Given the description of an element on the screen output the (x, y) to click on. 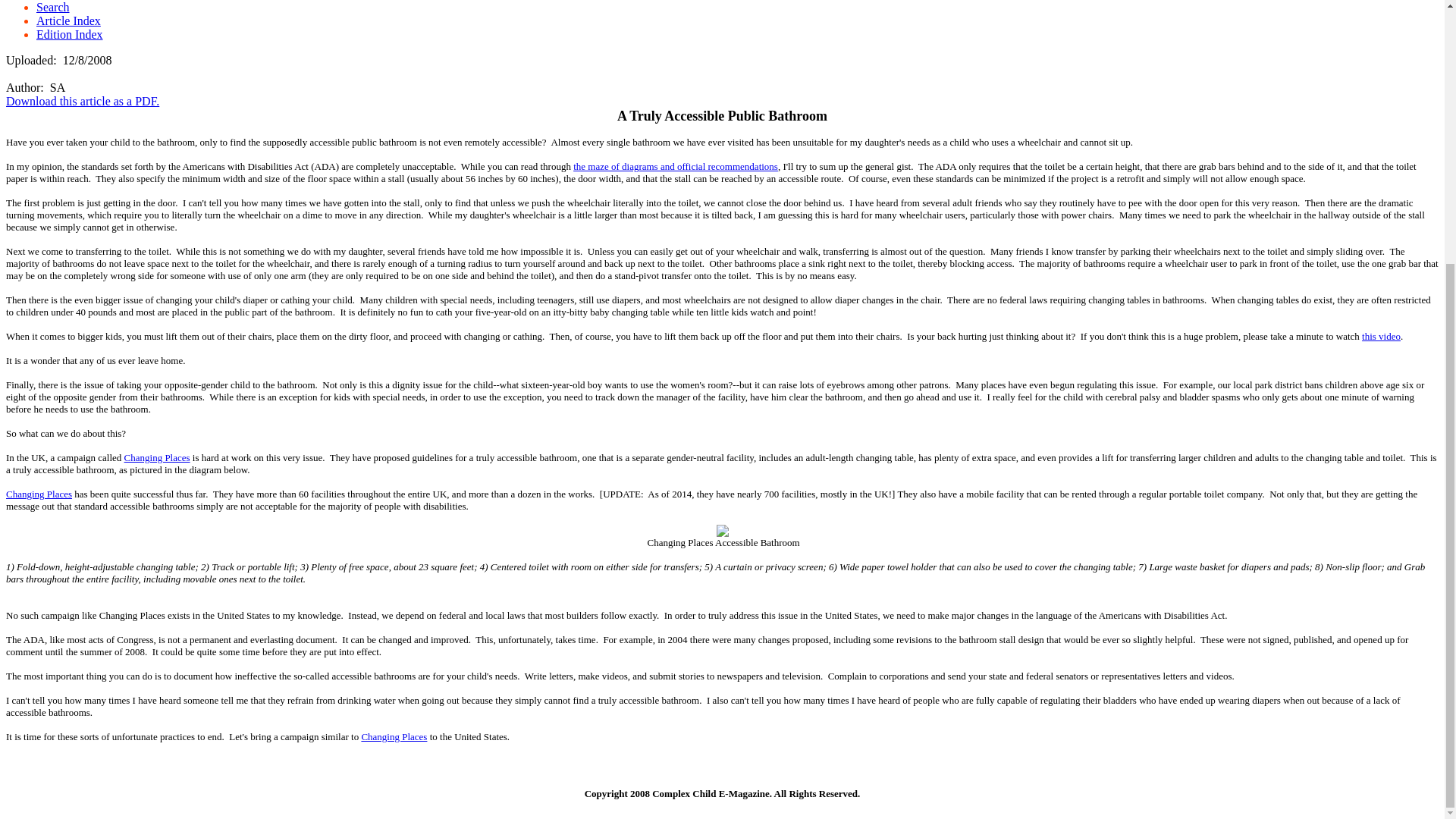
Search (52, 6)
Download this article as a PDF. (81, 101)
Changing Places (38, 493)
this video (1380, 336)
Changing Places (393, 736)
Edition Index (69, 33)
Changing Places (156, 457)
Article Index (68, 20)
the maze of diagrams and official recommendations (675, 165)
